Given the description of an element on the screen output the (x, y) to click on. 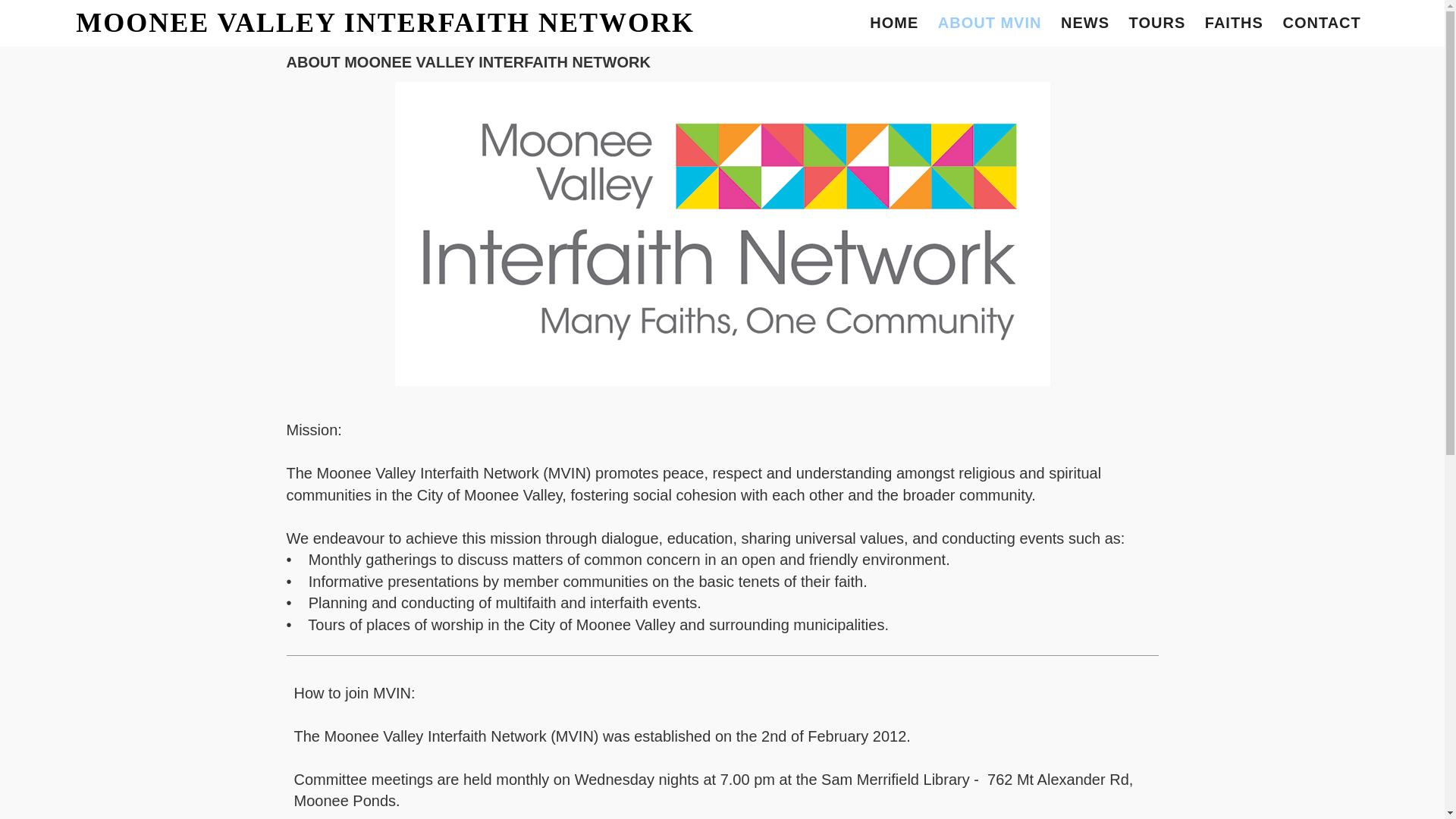
MOONEE VALLEY INTERFAITH NETWORK Element type: text (396, 22)
TOURS Element type: text (1157, 22)
NEWS Element type: text (1085, 22)
ABOUT MVIN Element type: text (989, 22)
FAITHS Element type: text (1233, 22)
CONTACT Element type: text (1321, 22)
about-mvin Element type: hover (721, 233)
HOME Element type: text (893, 22)
